Given the description of an element on the screen output the (x, y) to click on. 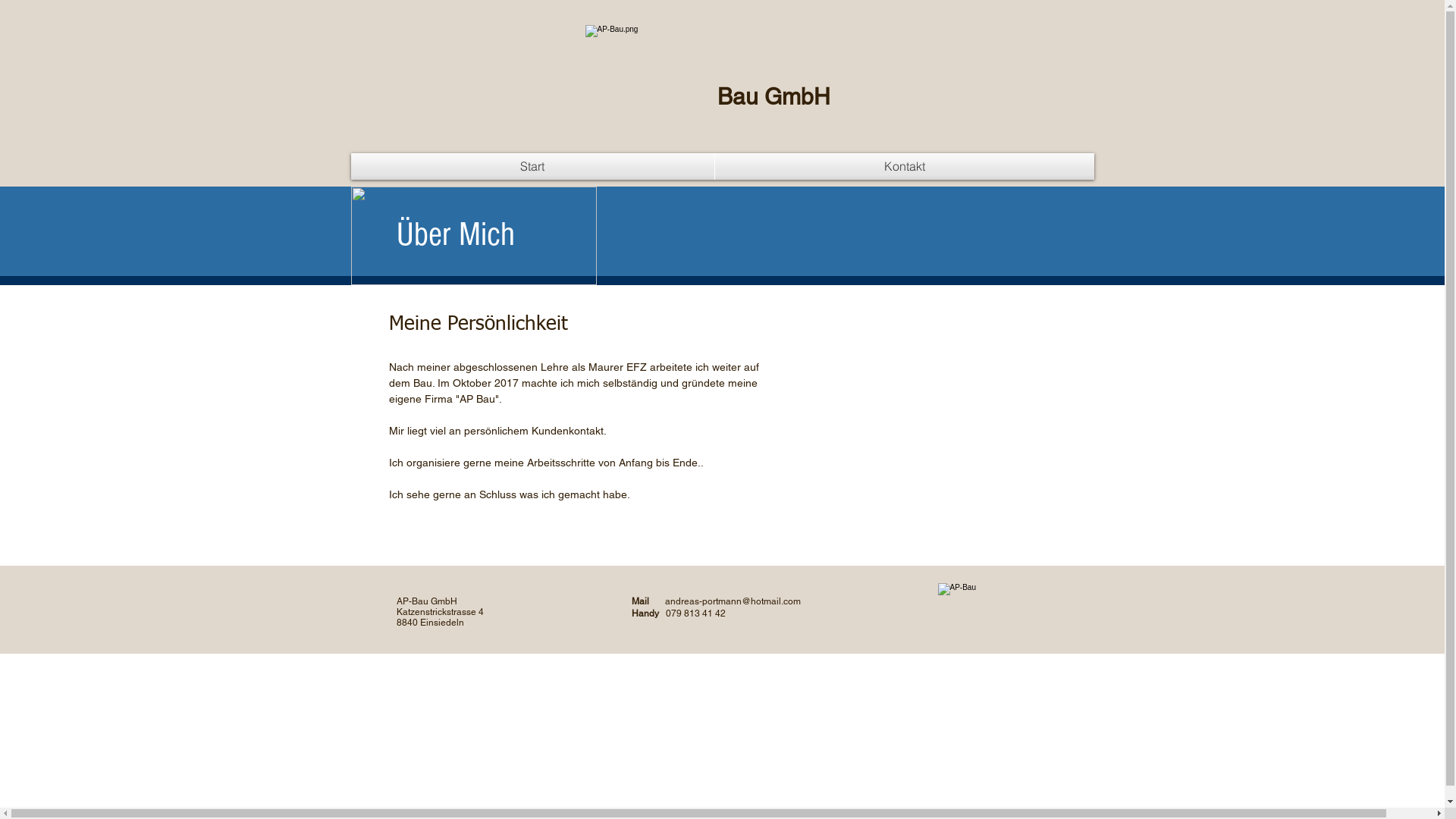
Start Element type: text (531, 166)
Kontakt Element type: text (903, 166)
andreas-portmann@hotmail.com Element type: text (732, 601)
AP-Bau GmbH Element type: text (425, 601)
